Given the description of an element on the screen output the (x, y) to click on. 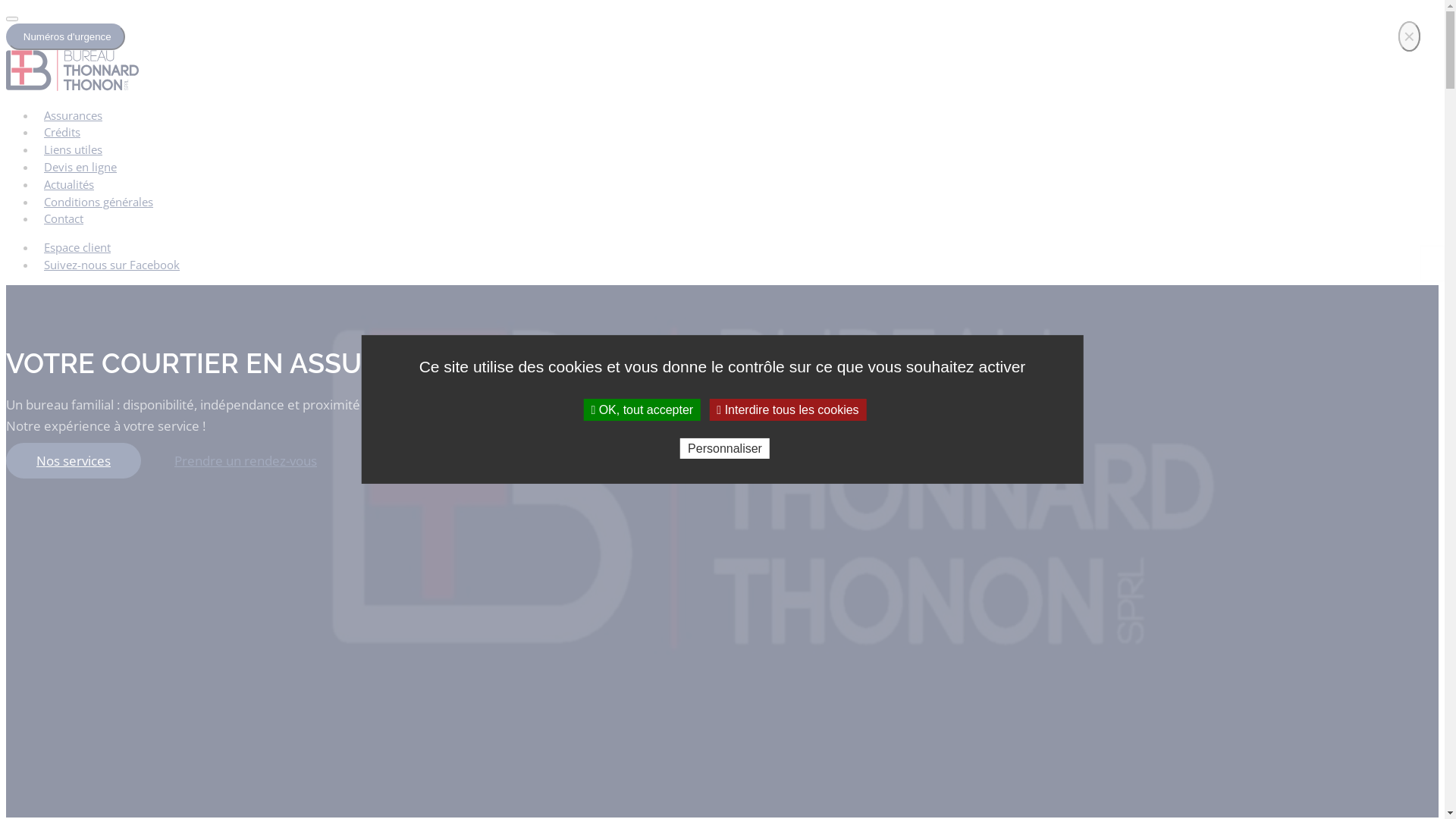
Nos services Element type: text (73, 460)
Personnaliser Element type: text (724, 448)
Partager sur LinkedIn Element type: hover (1432, 265)
Suivez-nous sur Facebook Element type: text (111, 264)
Partager sur Facebook Element type: hover (1432, 256)
Liens utiles Element type: text (72, 148)
Assurances Element type: text (72, 114)
Contact Element type: text (63, 217)
Prendre un rendez-vous Element type: text (245, 460)
Espace client Element type: text (76, 246)
Partager sur Google Plus Element type: hover (1432, 270)
Partager sur Twitter Element type: hover (1432, 261)
Devis en ligne Element type: text (79, 166)
